Given the description of an element on the screen output the (x, y) to click on. 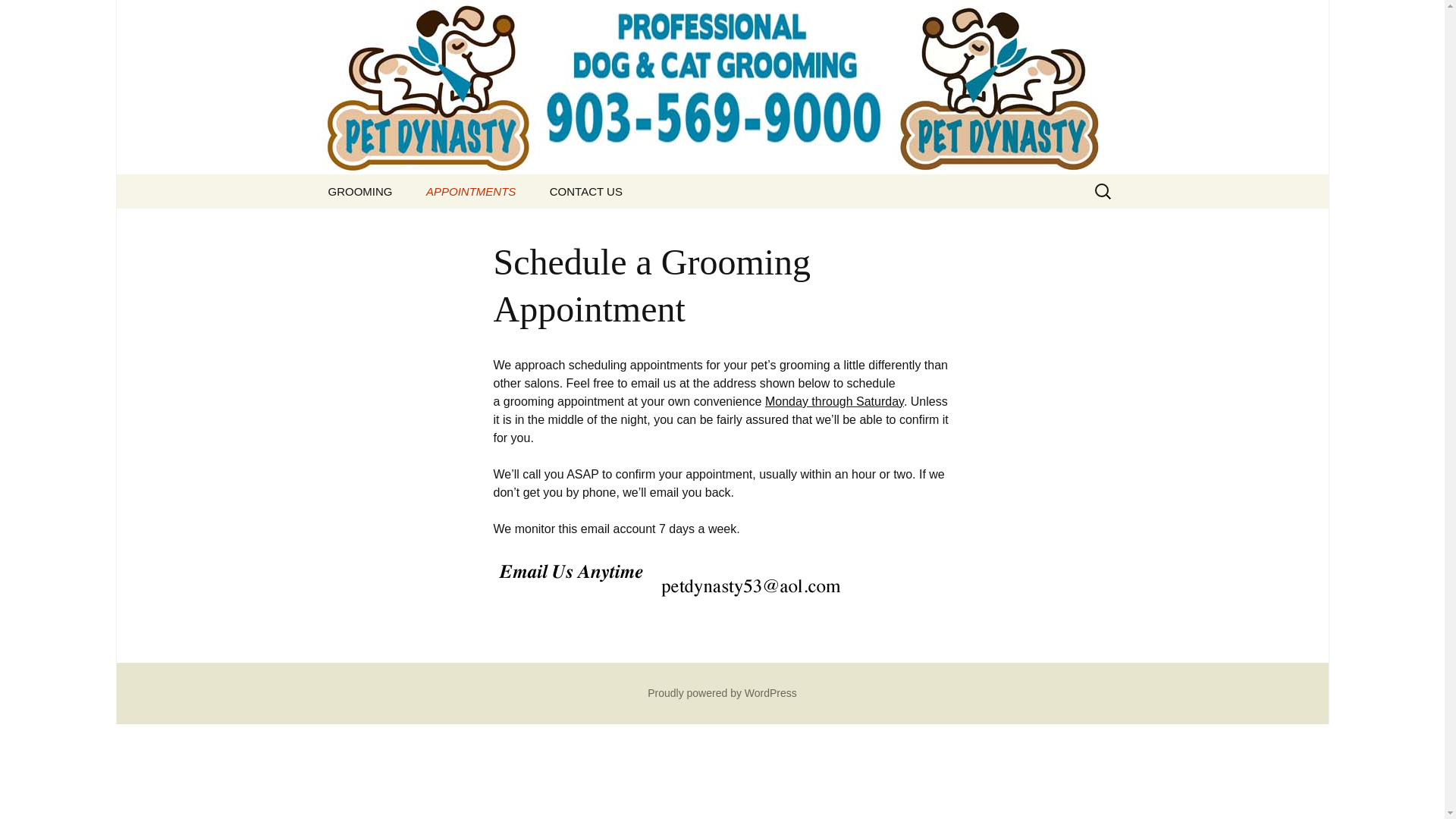
APPOINTMENTS (470, 191)
Proudly powered by WordPress (721, 693)
GROOMING (360, 191)
Search (18, 15)
CONTACT US (585, 191)
